Given the description of an element on the screen output the (x, y) to click on. 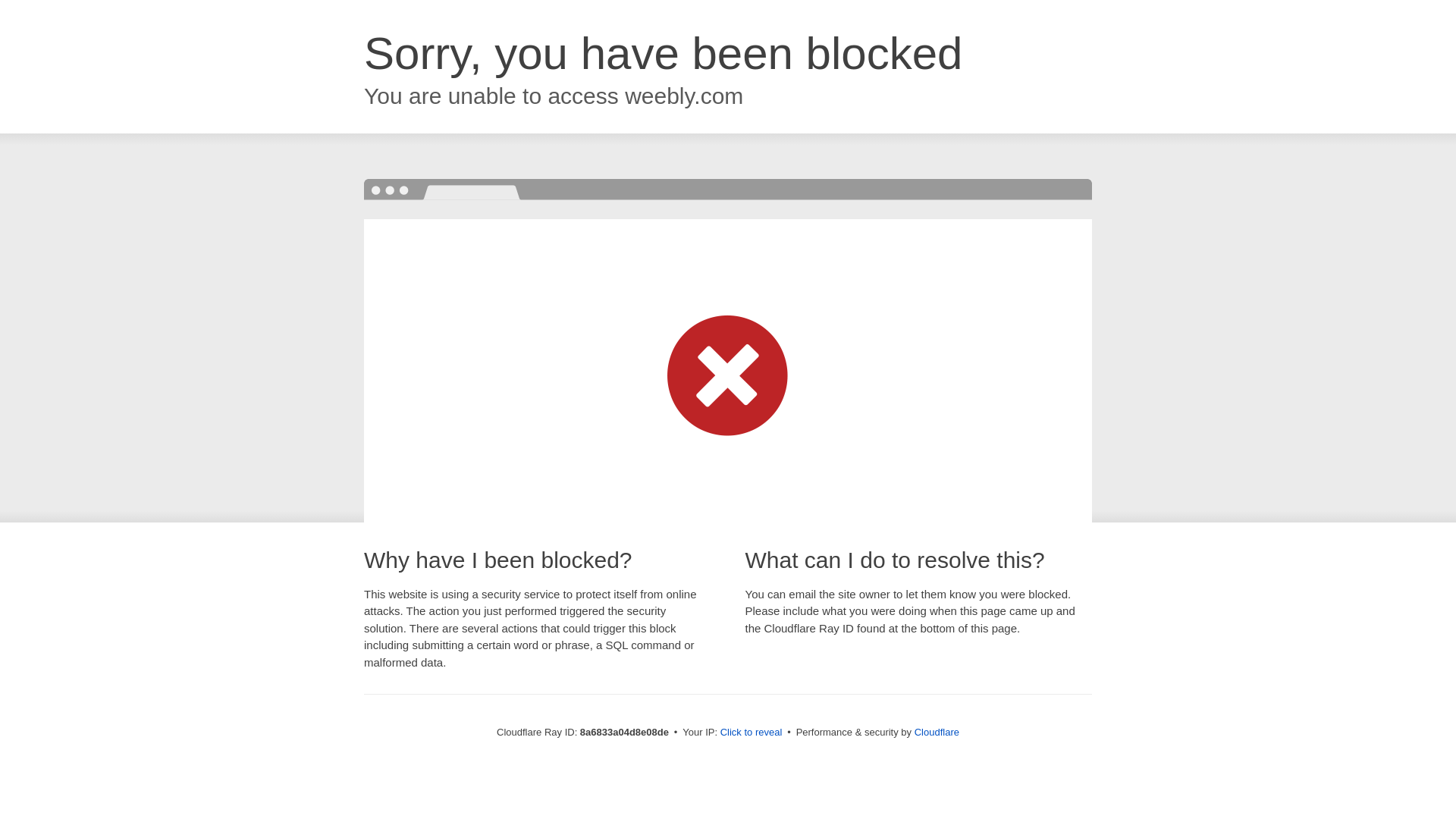
Click to reveal (751, 732)
Cloudflare (936, 731)
